Given the description of an element on the screen output the (x, y) to click on. 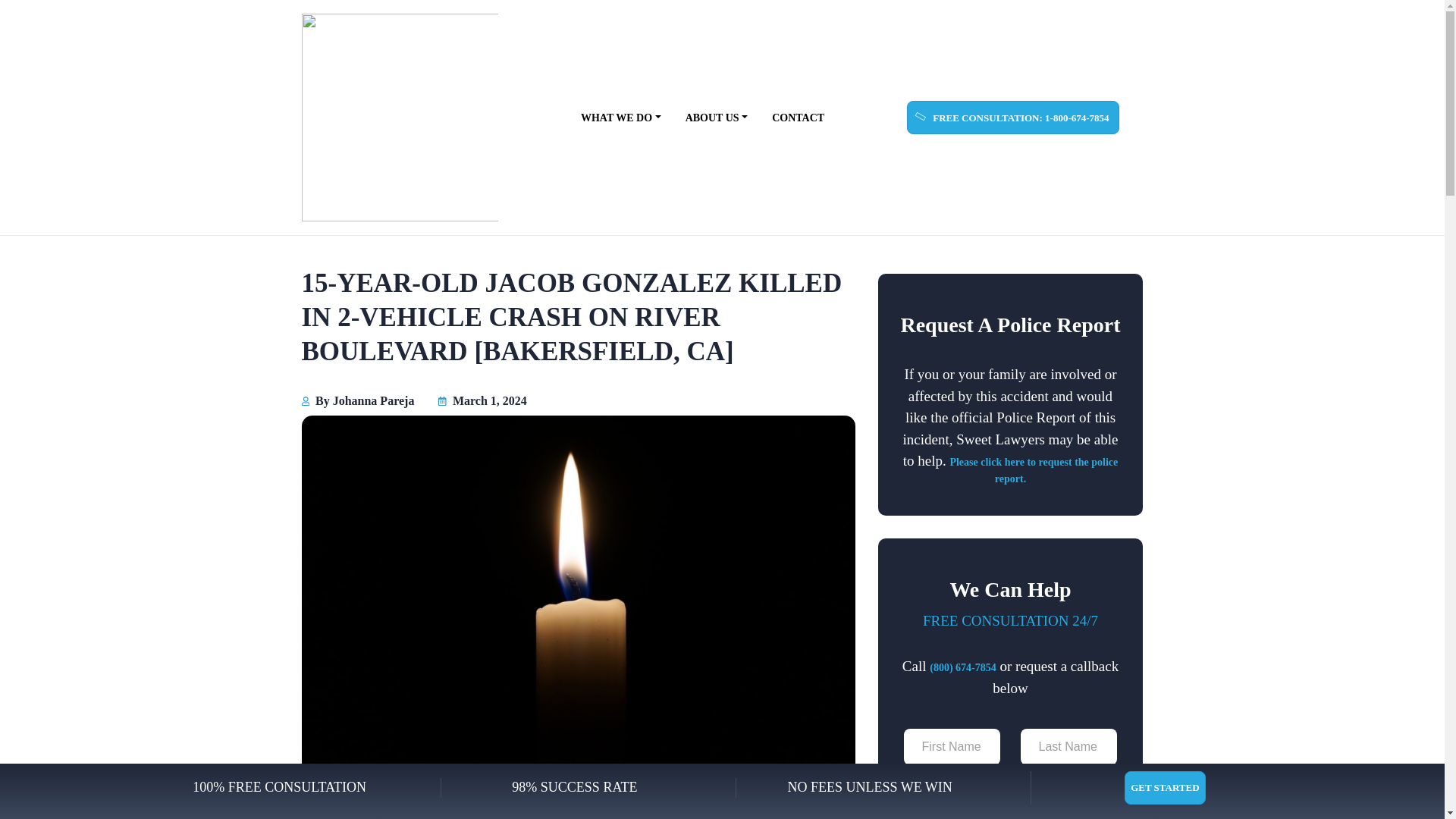
CONTACT (797, 116)
Johanna Pareja (373, 400)
Contact (797, 116)
Please click here to request the police report. (1033, 470)
About Us (716, 116)
What We Do (620, 116)
WHAT WE DO (620, 116)
FREE CONSULTATION: 1-800-674-7854 (1013, 117)
ABOUT US (716, 116)
